Given the description of an element on the screen output the (x, y) to click on. 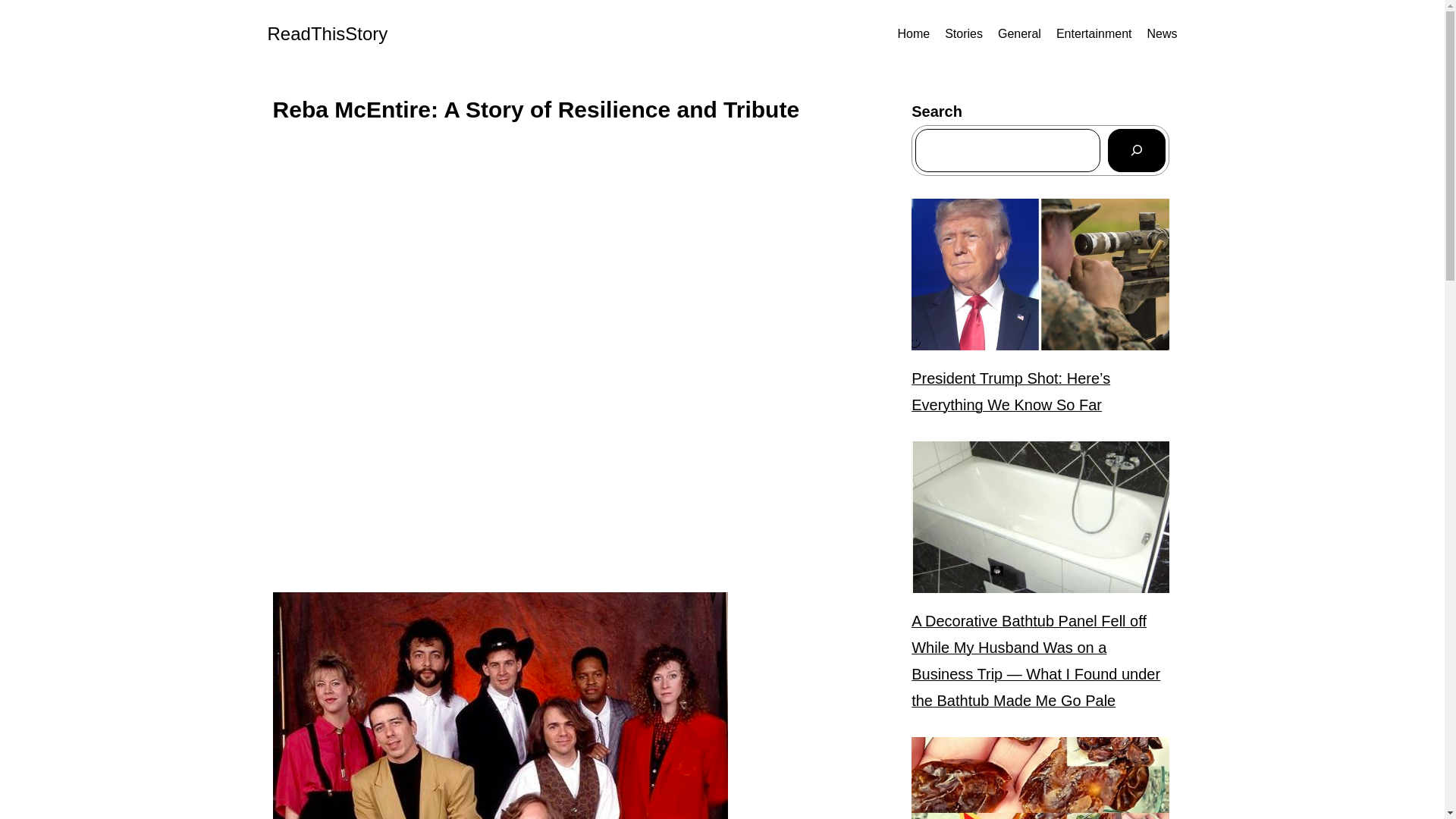
Home (913, 34)
Stories (963, 34)
Entertainment (1094, 34)
ReadThisStory (326, 33)
News (1161, 34)
General (1019, 34)
